Given the description of an element on the screen output the (x, y) to click on. 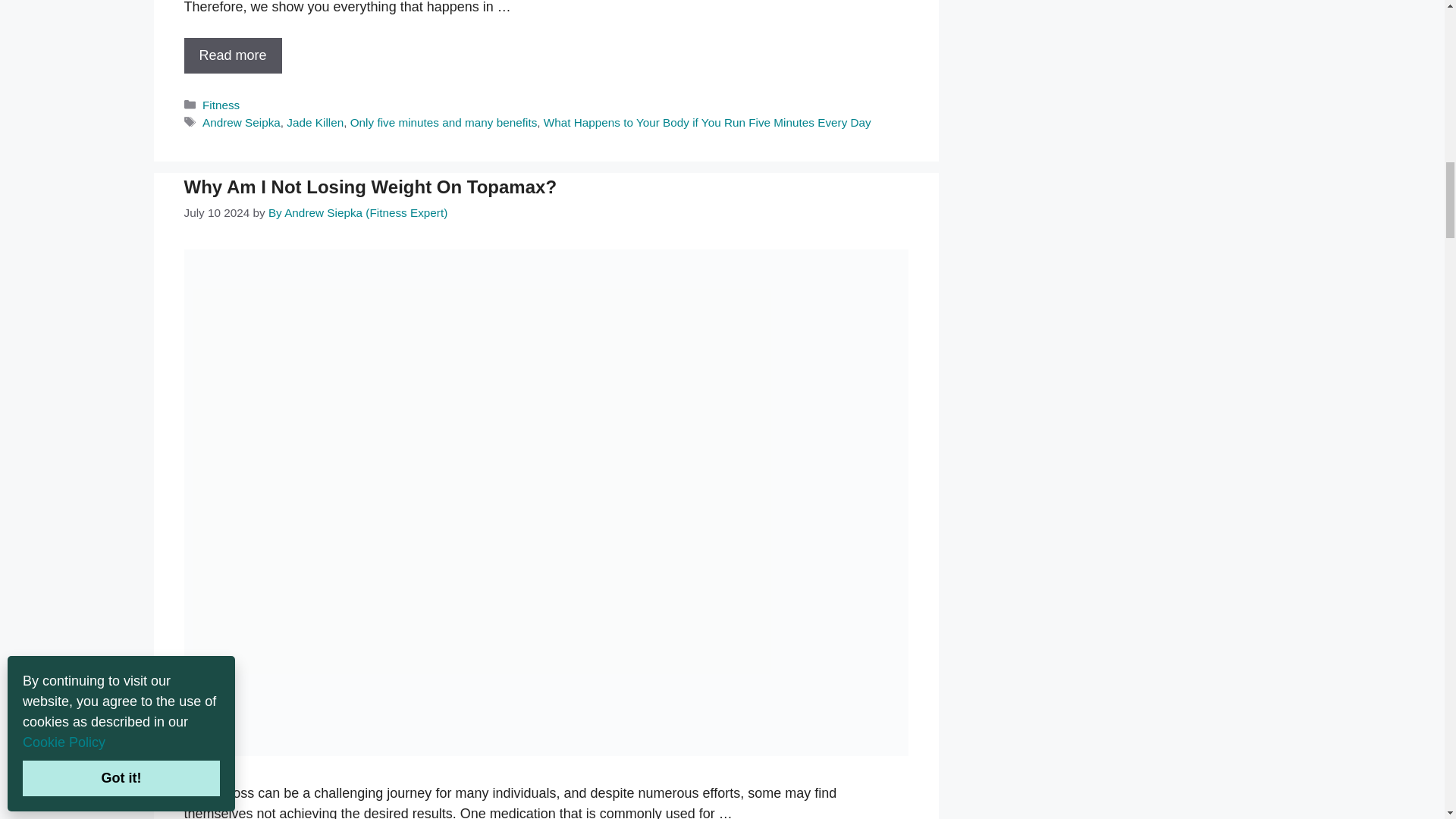
What Happens to Your Body if You Run Five Minutes Every Day? (232, 55)
